Given the description of an element on the screen output the (x, y) to click on. 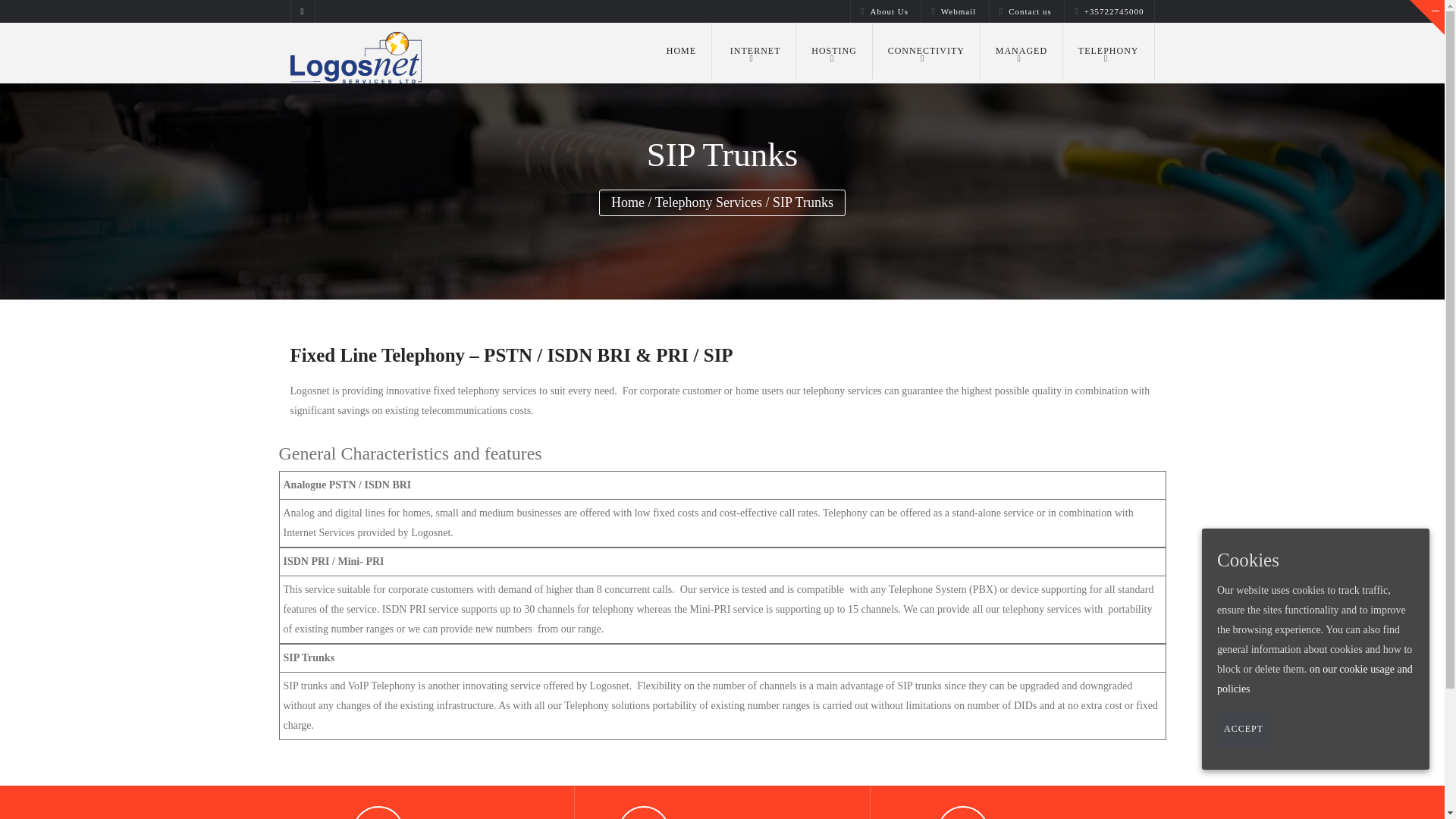
Webmail (953, 10)
 INTERNET (753, 50)
Internet (753, 50)
CONNECTIVITY (925, 50)
Home (680, 50)
About Us (884, 10)
HOME (680, 50)
HOSTING (834, 50)
Contact us (1025, 10)
Hosting (834, 50)
MANAGED (1020, 50)
